Given the description of an element on the screen output the (x, y) to click on. 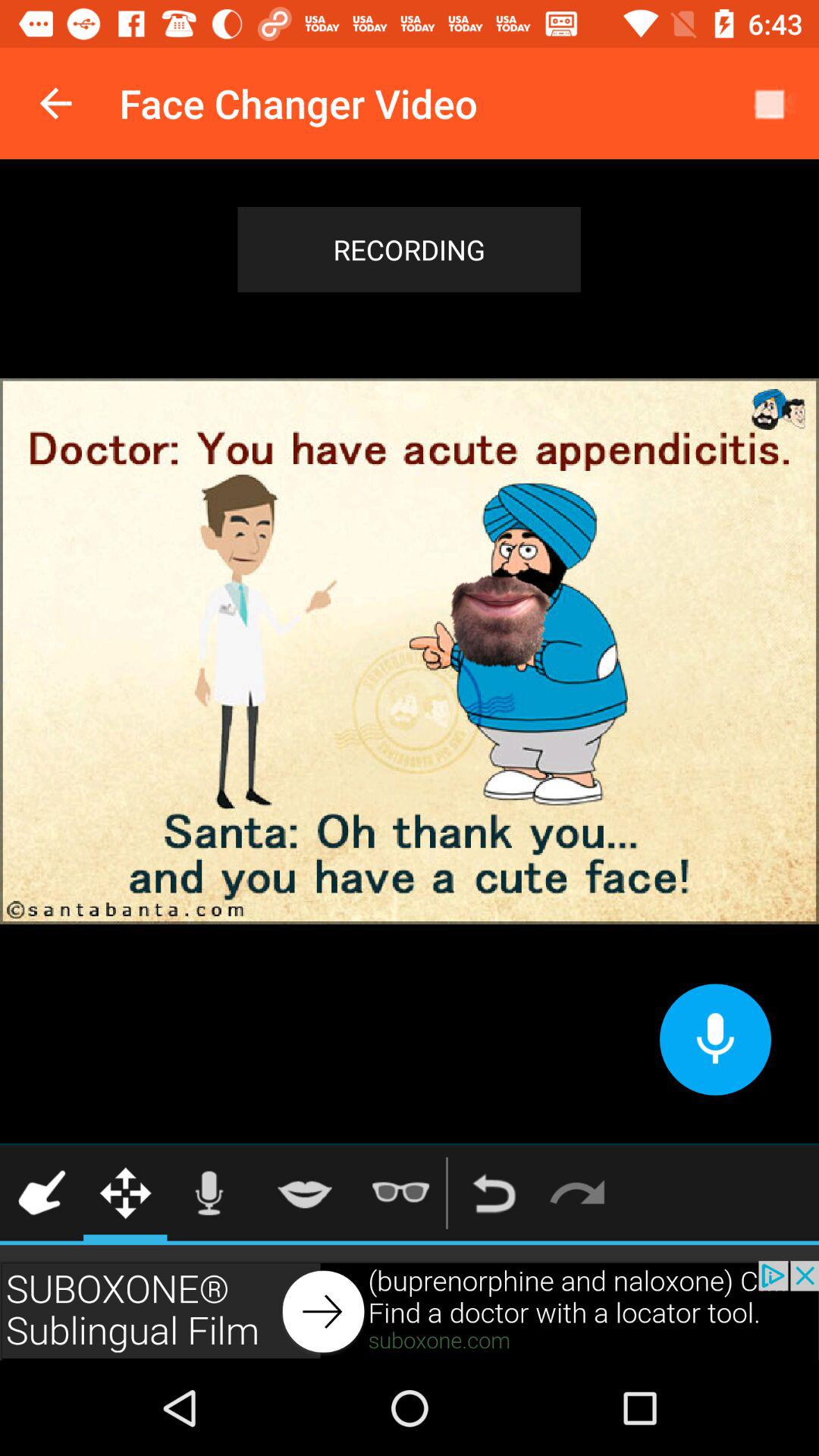
advertisement (409, 1310)
